Given the description of an element on the screen output the (x, y) to click on. 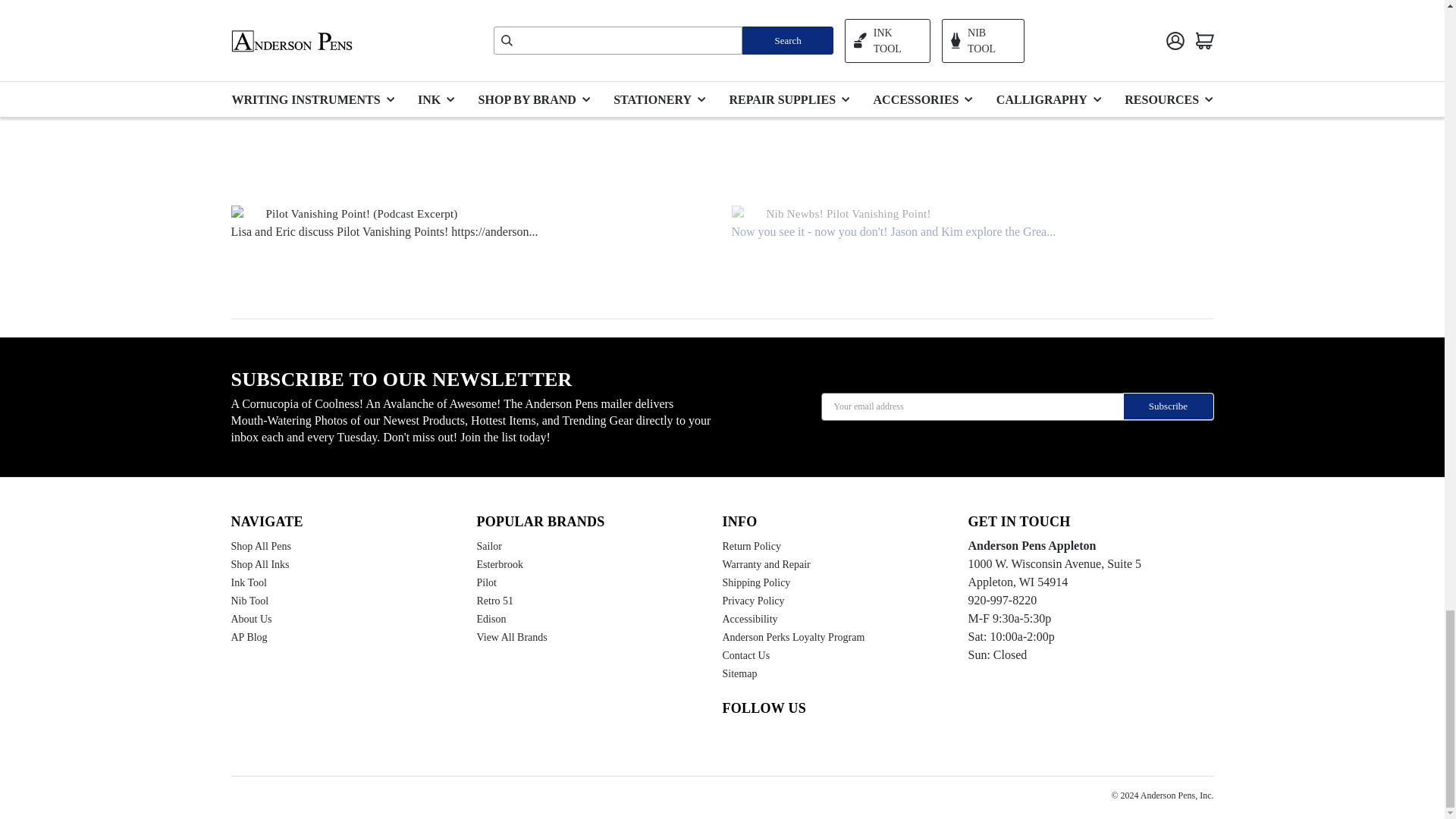
Youtube (759, 741)
Twitter (814, 741)
Facebook (785, 741)
Subscribe (1167, 406)
Instagram (730, 741)
